Given the description of an element on the screen output the (x, y) to click on. 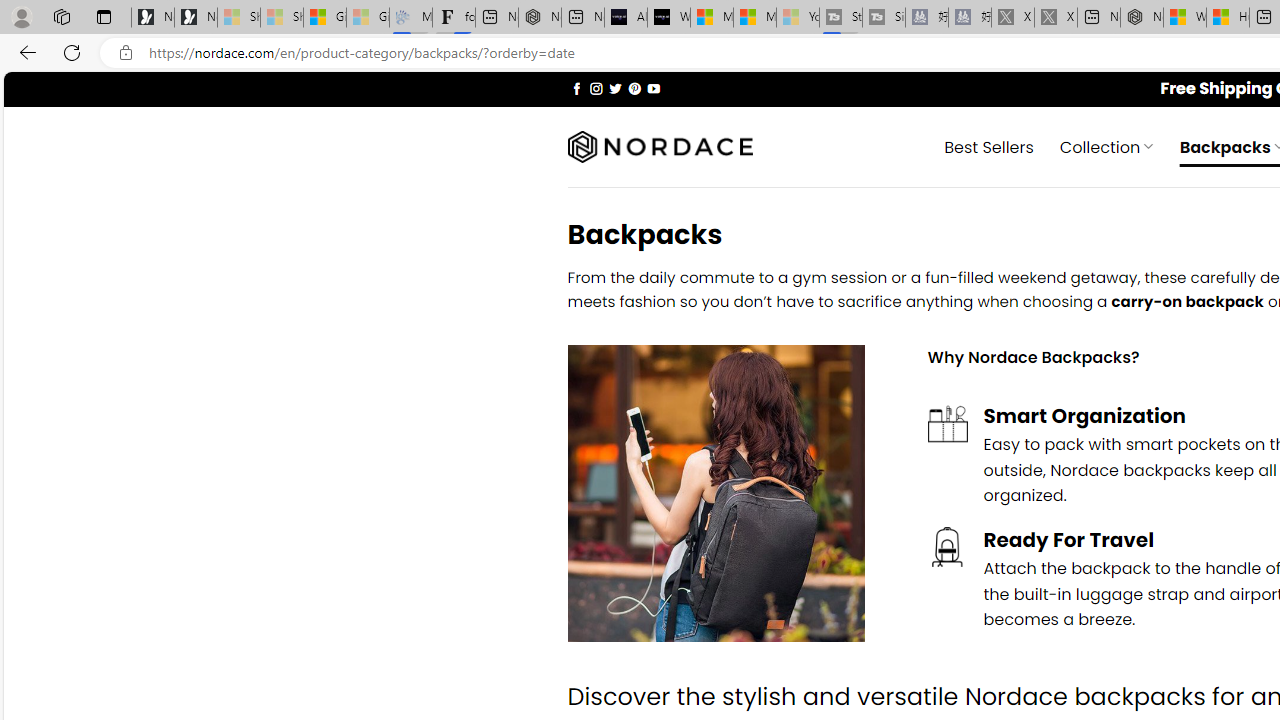
Follow on Instagram (596, 88)
 Best Sellers (989, 146)
X - Sleeping (1055, 17)
Huge shark washes ashore at New York City beach | Watch (1228, 17)
Streaming Coverage | T3 - Sleeping (840, 17)
Newsletter Sign Up (196, 17)
Follow on Pinterest (634, 88)
What's the best AI voice generator? - voice.ai (668, 17)
